Given the description of an element on the screen output the (x, y) to click on. 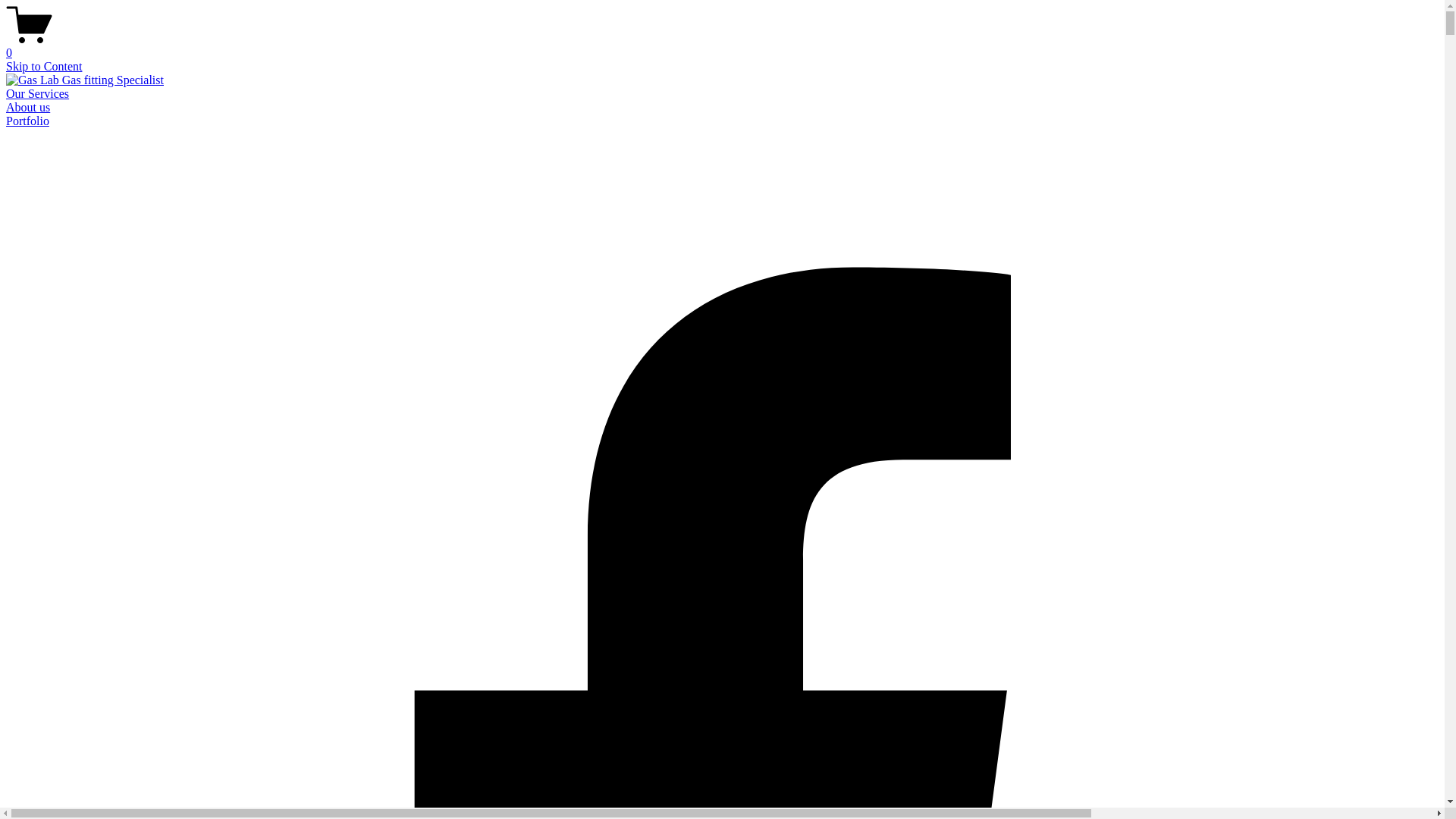
About us Element type: text (28, 106)
Skip to Content Element type: text (43, 65)
Our Services Element type: text (37, 93)
Portfolio Element type: text (27, 120)
0 Element type: text (722, 45)
